Given the description of an element on the screen output the (x, y) to click on. 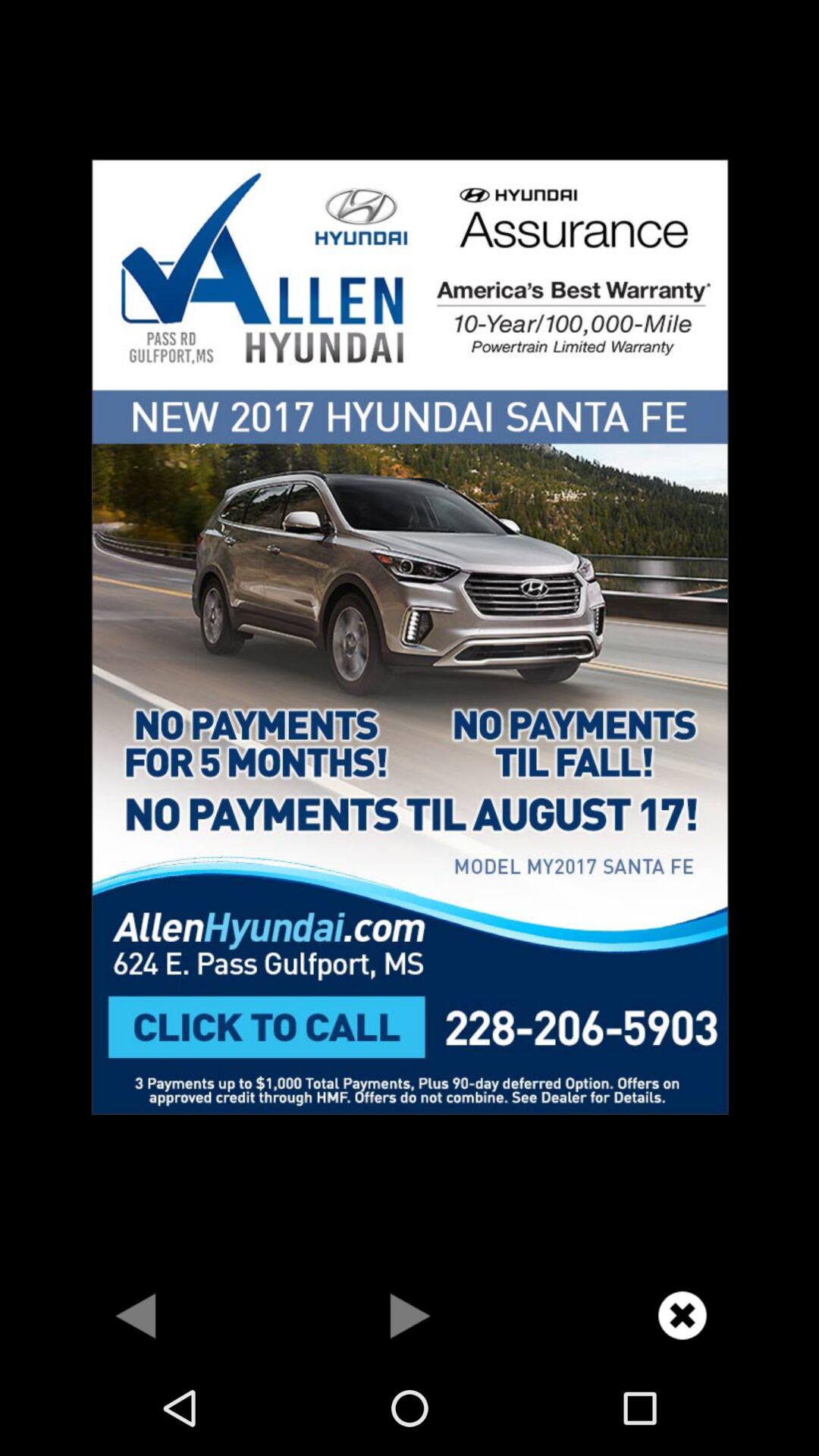
close the screen (682, 1315)
